Given the description of an element on the screen output the (x, y) to click on. 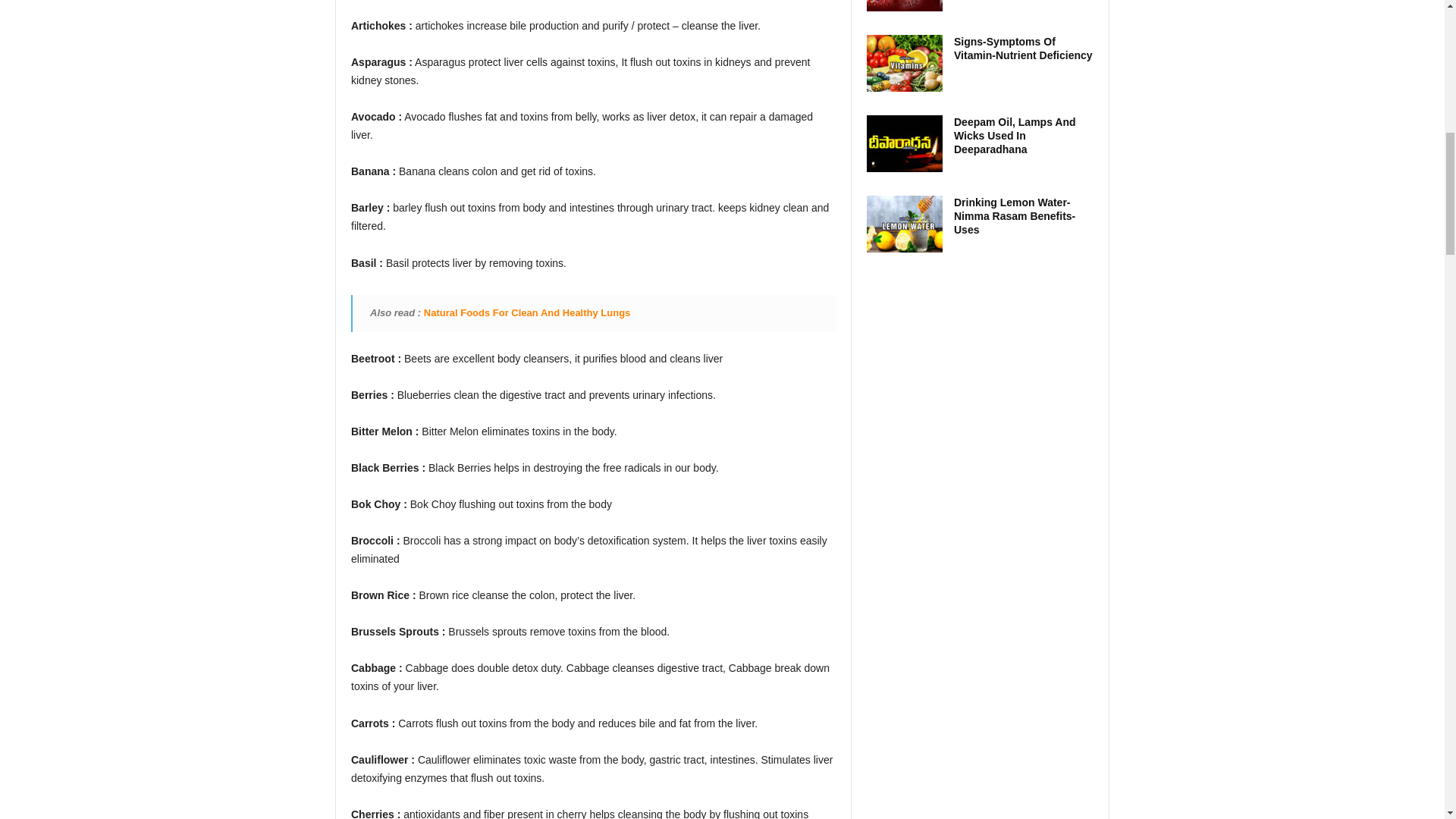
Natural Foods For Clean And Healthy Lungs (526, 312)
